Given the description of an element on the screen output the (x, y) to click on. 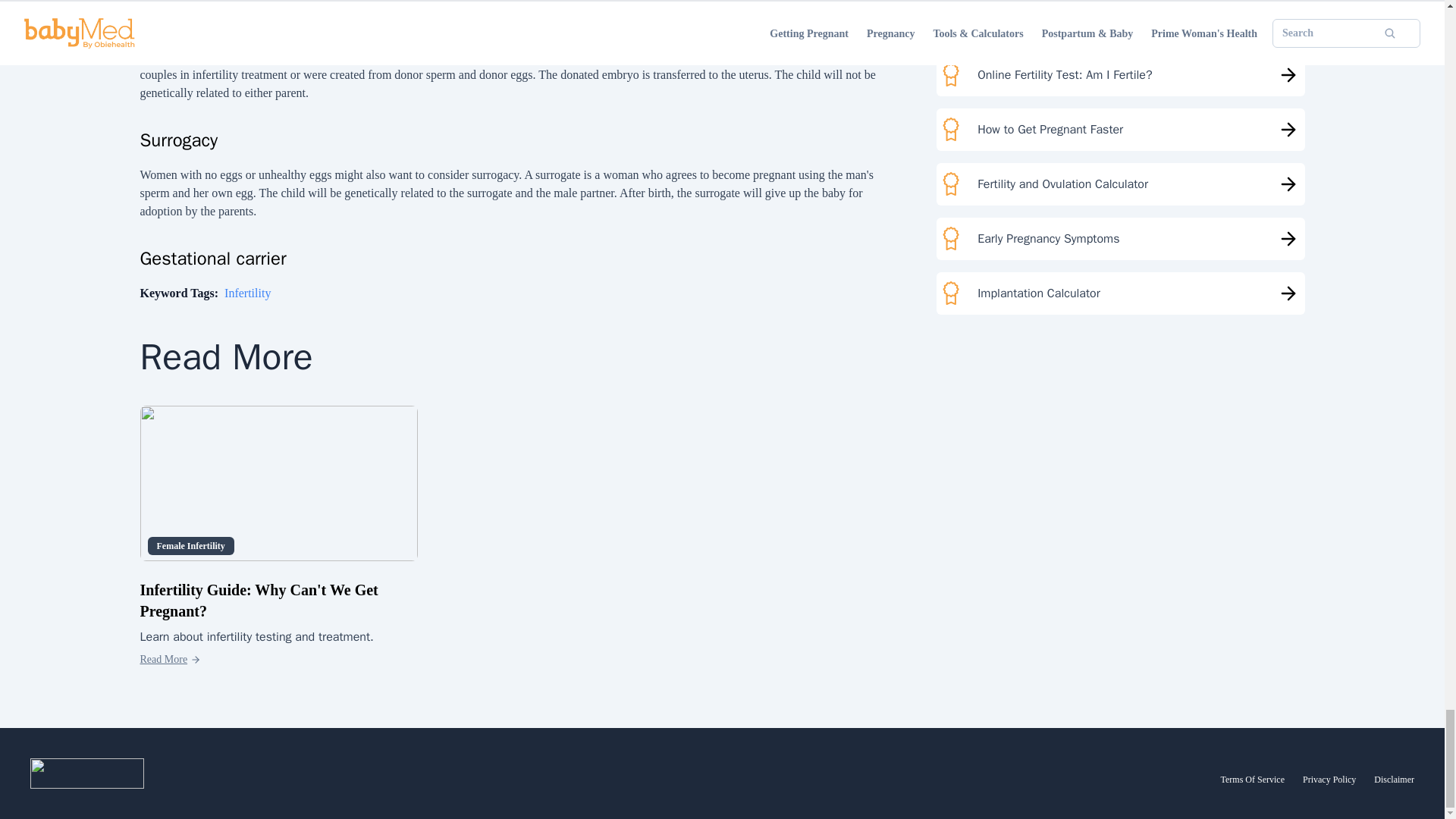
Disclaimer (1393, 778)
Keyword Tags:Infertility (204, 292)
Terms Of Service (1252, 778)
Privacy Policy (1329, 778)
Read More (169, 659)
